Given the description of an element on the screen output the (x, y) to click on. 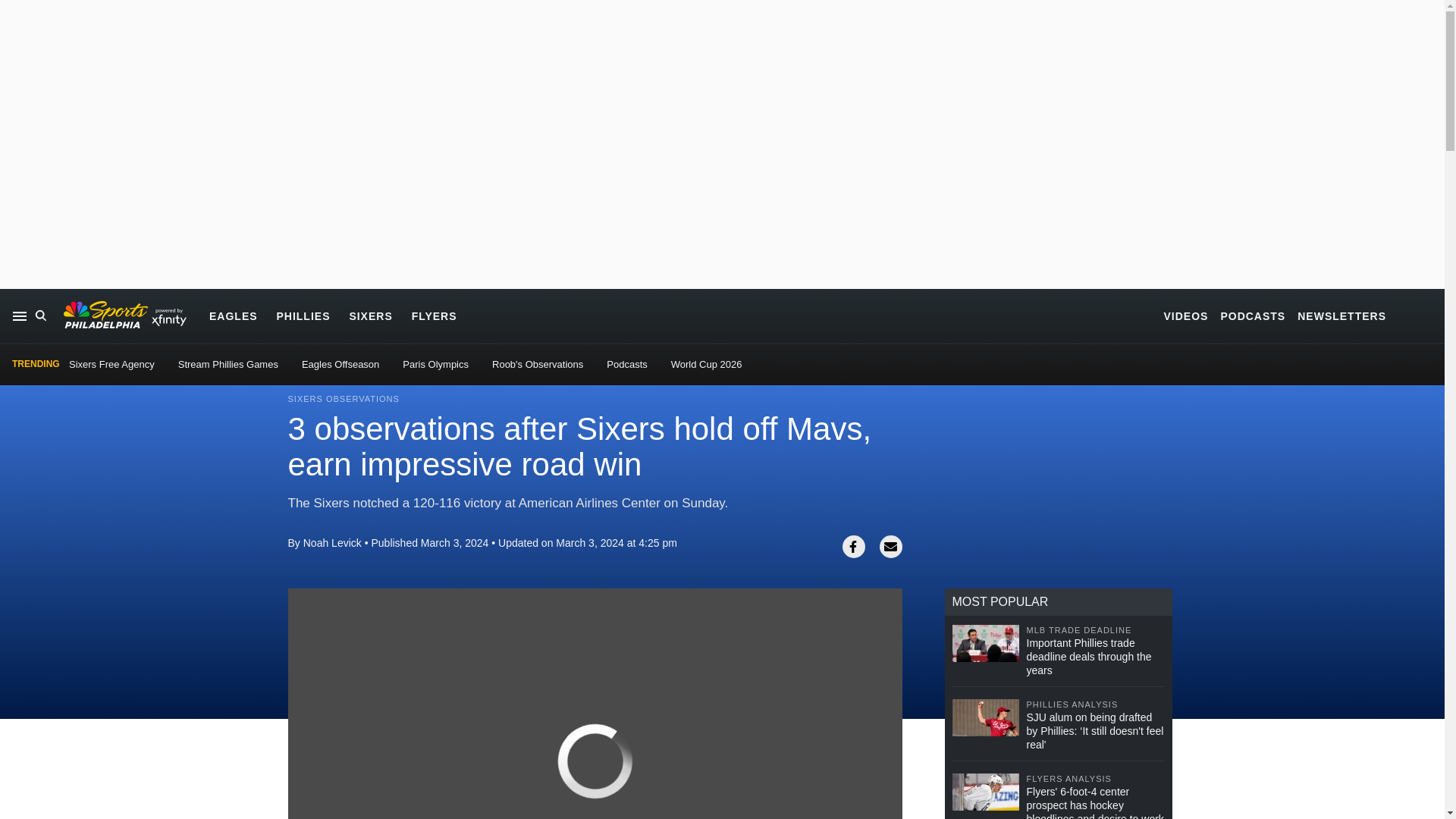
World Cup 2026 (706, 364)
Eagles Offseason (339, 364)
Noah Levick (331, 542)
SIXERS (370, 315)
Podcasts (626, 364)
PHILLIES (303, 315)
PODCASTS (1252, 315)
NEWSLETTERS (1341, 315)
Roob's Observations (537, 364)
Sixers Free Agency (111, 364)
SIXERS OBSERVATIONS (343, 398)
EAGLES (233, 315)
Paris Olympics (435, 364)
VIDEOS (1185, 315)
FLYERS (434, 315)
